Given the description of an element on the screen output the (x, y) to click on. 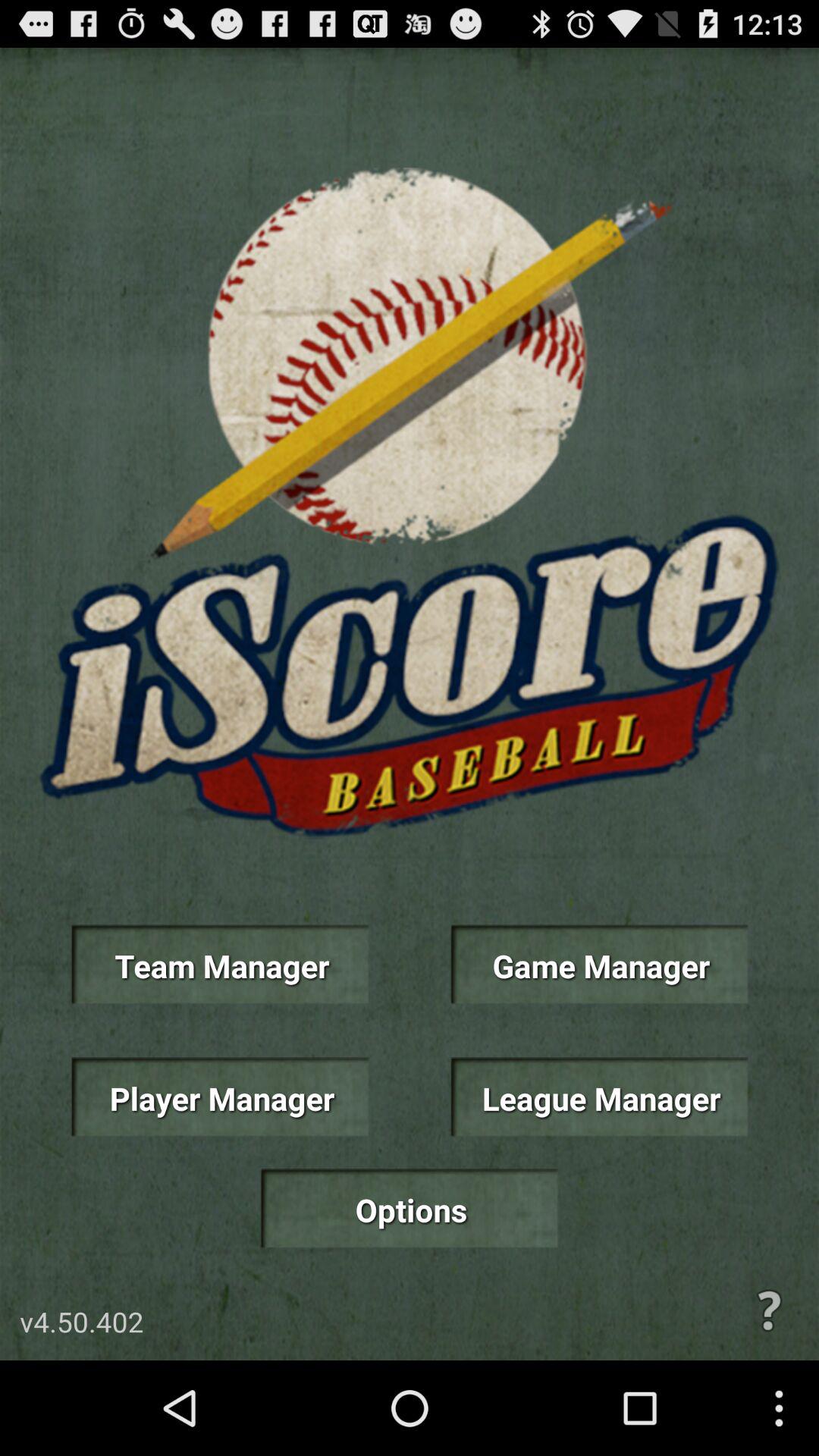
tap the app to the right of the v4.50.402 icon (769, 1310)
